Given the description of an element on the screen output the (x, y) to click on. 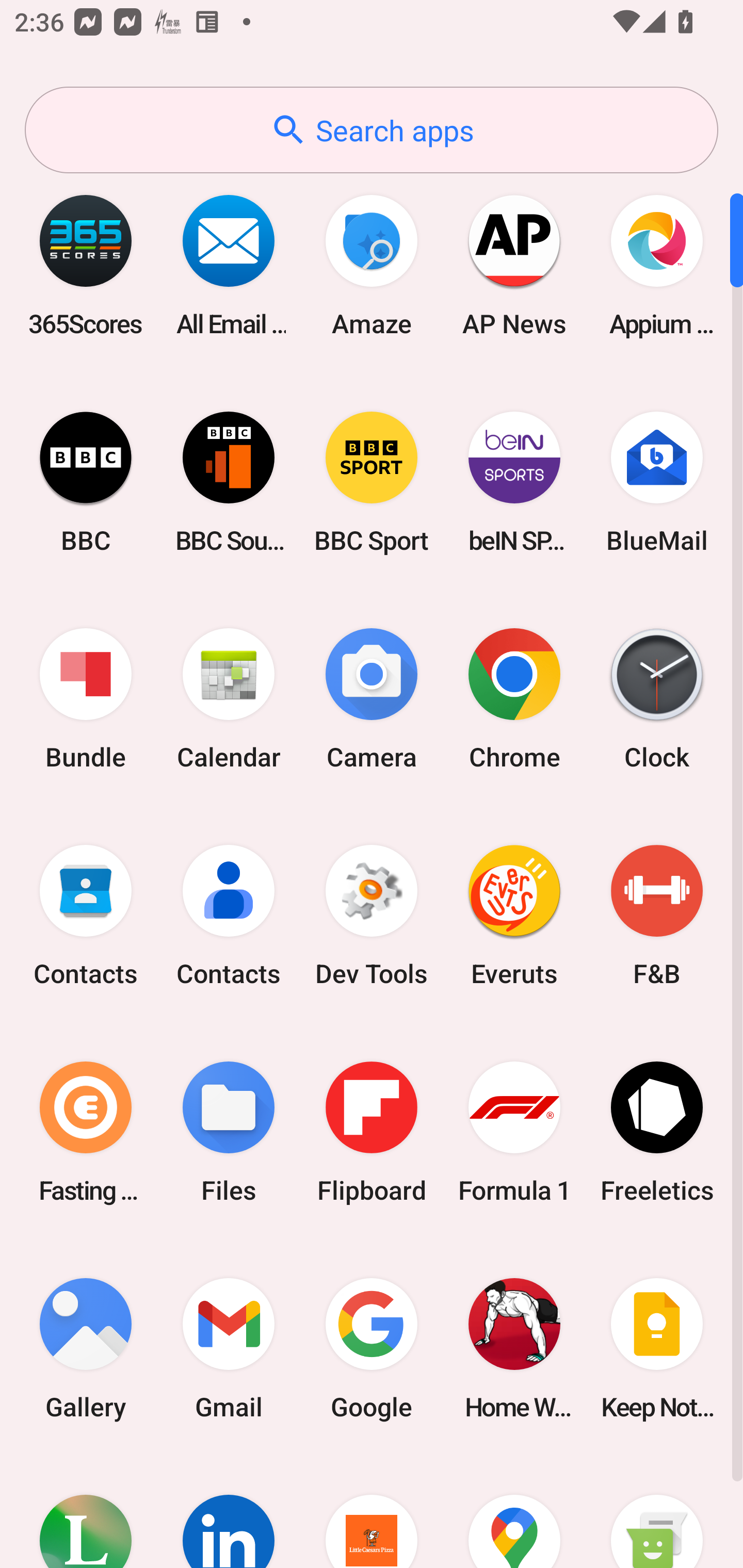
  Search apps (371, 130)
365Scores (85, 264)
All Email Connect (228, 264)
Amaze (371, 264)
AP News (514, 264)
Appium Settings (656, 264)
BBC (85, 482)
BBC Sounds (228, 482)
BBC Sport (371, 482)
beIN SPORTS (514, 482)
BlueMail (656, 482)
Bundle (85, 699)
Calendar (228, 699)
Camera (371, 699)
Chrome (514, 699)
Clock (656, 699)
Contacts (85, 915)
Contacts (228, 915)
Dev Tools (371, 915)
Everuts (514, 915)
F&B (656, 915)
Fasting Coach (85, 1131)
Files (228, 1131)
Flipboard (371, 1131)
Formula 1 (514, 1131)
Freeletics (656, 1131)
Gallery (85, 1348)
Gmail (228, 1348)
Google (371, 1348)
Home Workout (514, 1348)
Keep Notes (656, 1348)
